Given the description of an element on the screen output the (x, y) to click on. 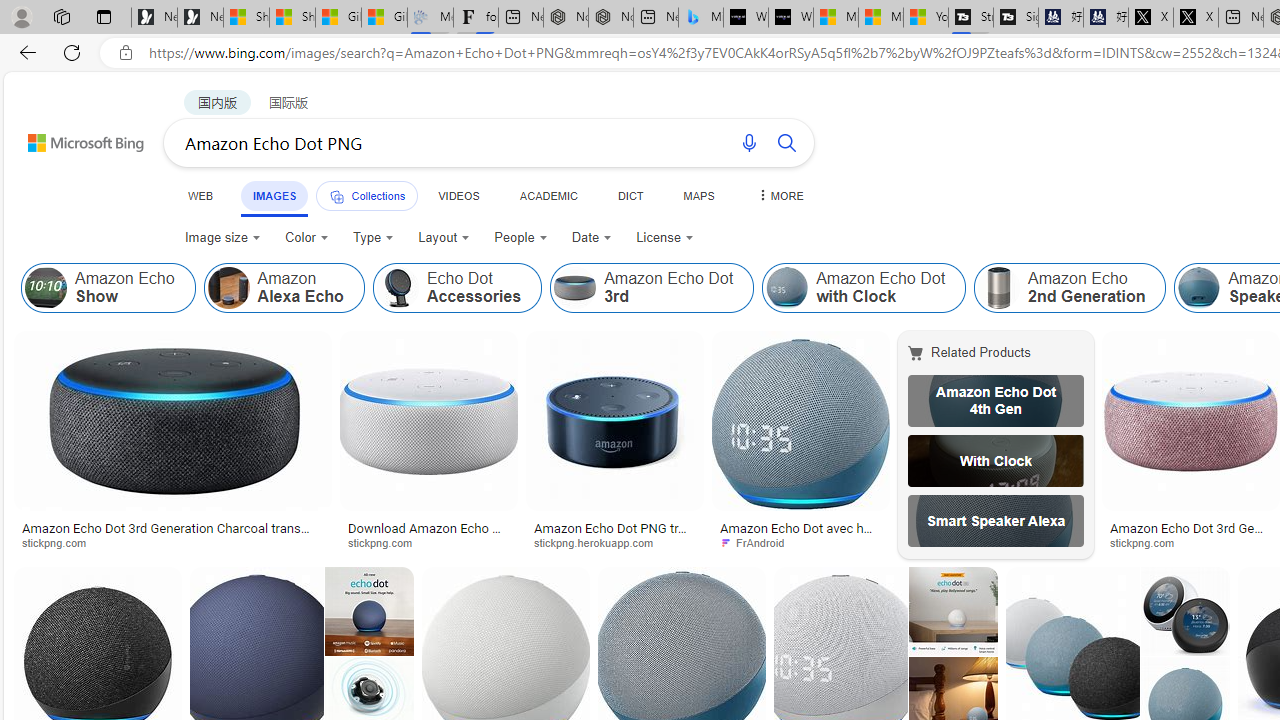
stickpng.herokuapp.com (614, 542)
stickpng.com (1190, 542)
Amazon Alexa Echo (283, 287)
WEB (201, 195)
stickpng.com (1149, 541)
People (520, 237)
Amazon Echo 2nd Generation (999, 287)
MAPS (698, 195)
ACADEMIC (548, 195)
Echo Dot with Clock (995, 460)
